Given the description of an element on the screen output the (x, y) to click on. 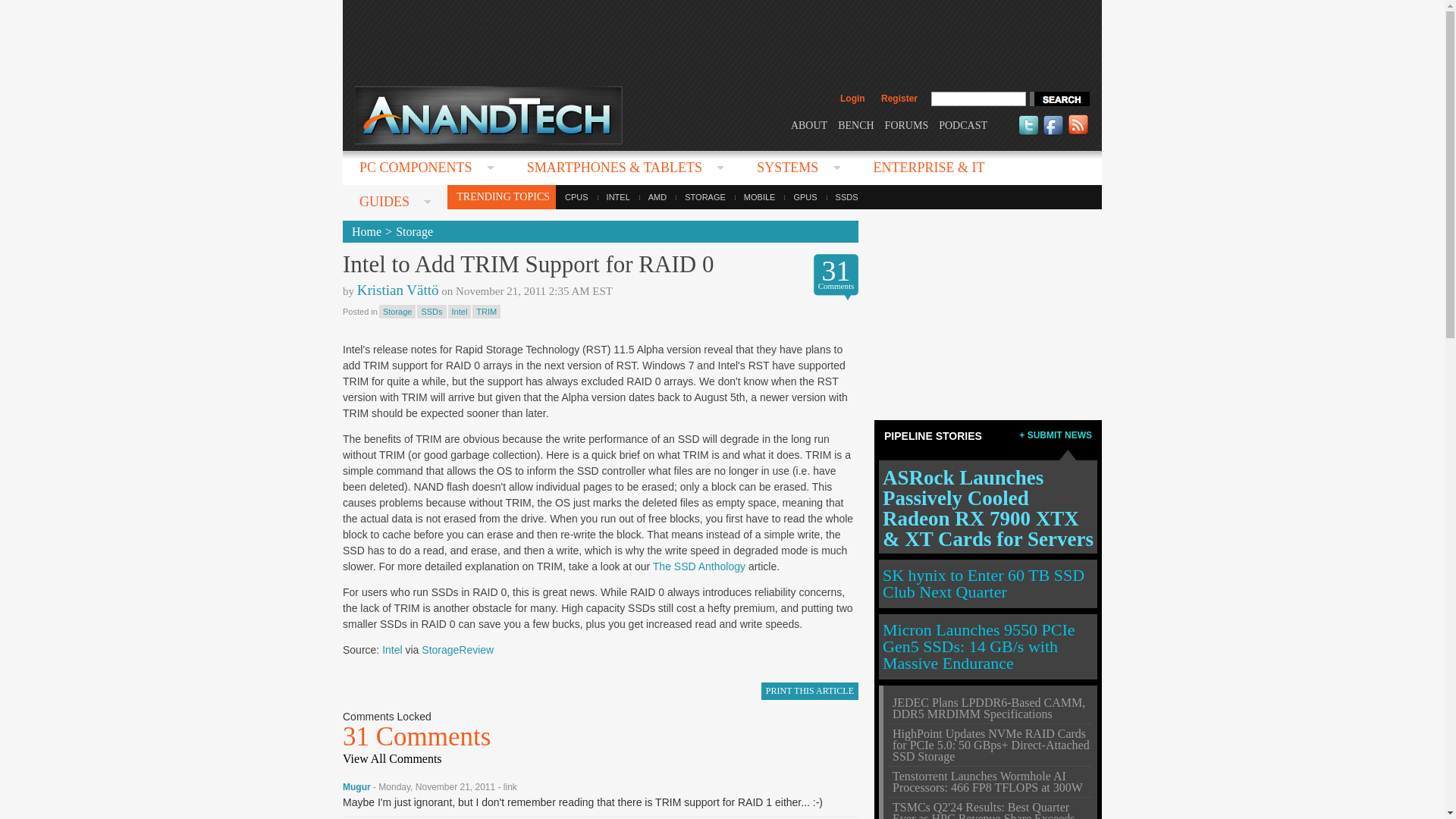
FORUMS (906, 125)
Register (898, 98)
search (1059, 98)
BENCH (855, 125)
Login (852, 98)
PODCAST (963, 125)
search (1059, 98)
search (1059, 98)
ABOUT (808, 125)
